Given the description of an element on the screen output the (x, y) to click on. 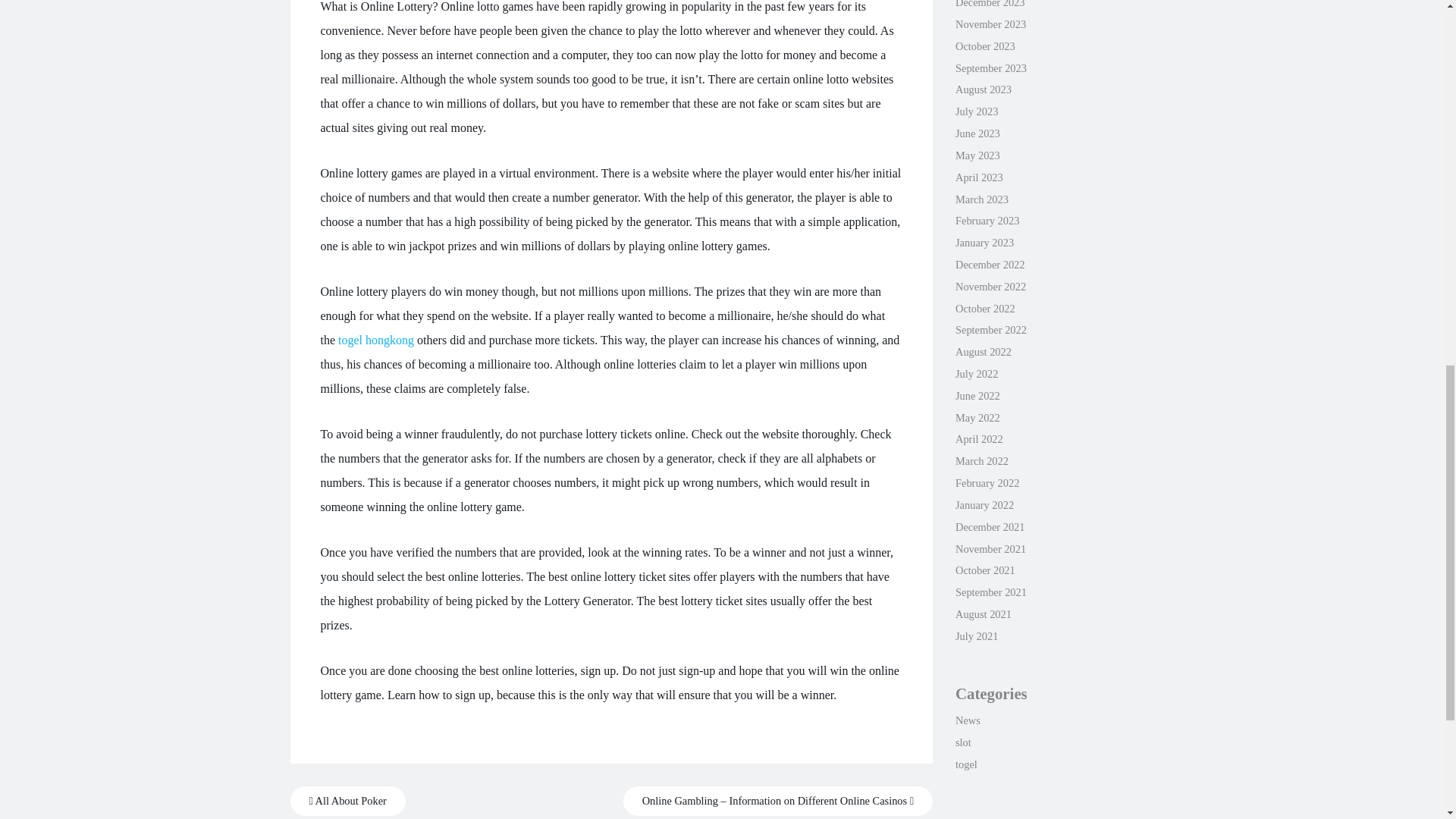
togel hongkong (375, 339)
November 2022 (990, 286)
August 2022 (983, 351)
September 2022 (990, 329)
July 2023 (976, 111)
September 2023 (990, 68)
October 2022 (984, 308)
December 2022 (990, 264)
February 2023 (987, 220)
November 2023 (990, 24)
January 2023 (984, 242)
April 2023 (979, 177)
May 2023 (977, 155)
October 2023 (984, 46)
All About Poker (346, 800)
